Given the description of an element on the screen output the (x, y) to click on. 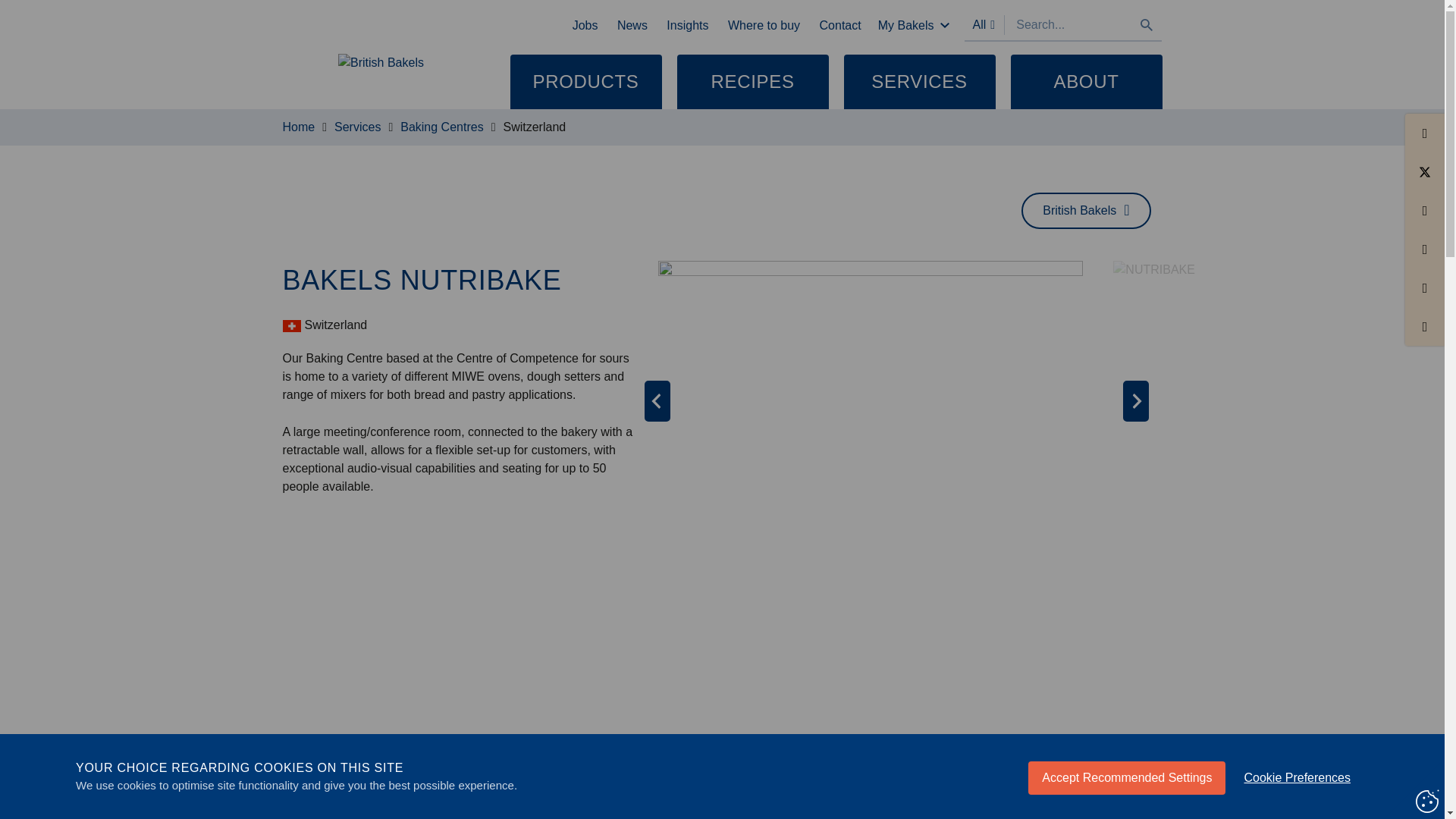
Products (585, 81)
Search (1146, 24)
Jobs (585, 25)
British Bakels (380, 75)
Cookie Preferences (1296, 788)
Insights (686, 25)
Insights (686, 25)
Where to buy (763, 25)
News (632, 25)
Contact (840, 25)
Jobs (585, 25)
Where to buy (763, 25)
My Bakels (913, 25)
Contact (840, 25)
PRODUCTS (585, 81)
